Given the description of an element on the screen output the (x, y) to click on. 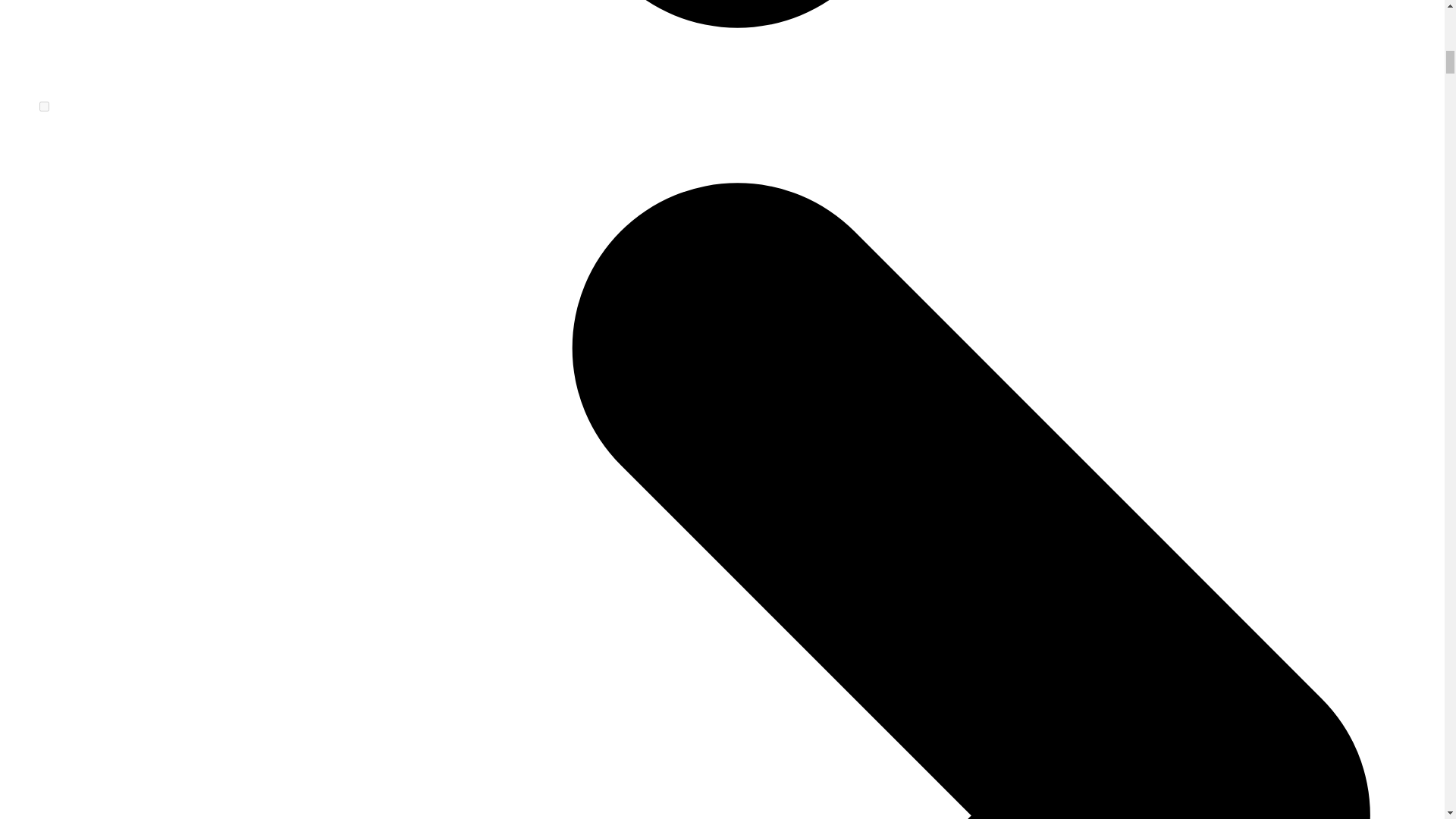
on (44, 106)
